Given the description of an element on the screen output the (x, y) to click on. 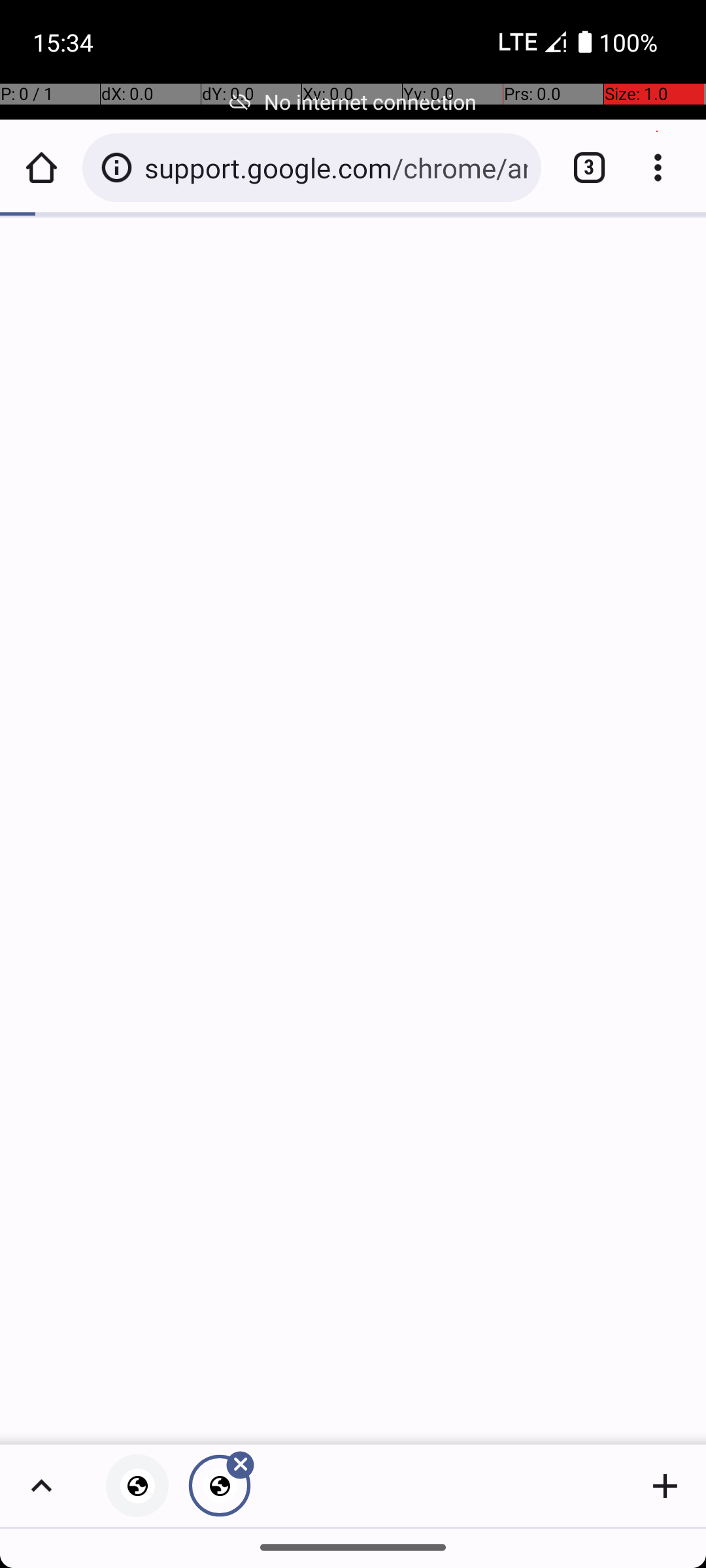
Show group's tabs in fullscreen grid Element type: android.widget.ImageView (41, 1485)
Add new tab to group Element type: android.widget.ImageView (664, 1485)
support.google.com/chrome/answer/6098869#-201 Element type: android.widget.EditText (335, 167)
Privacy error, tab Element type: android.widget.ImageButton (137, 1485)
Close  tab Element type: android.widget.ImageButton (219, 1485)
